Given the description of an element on the screen output the (x, y) to click on. 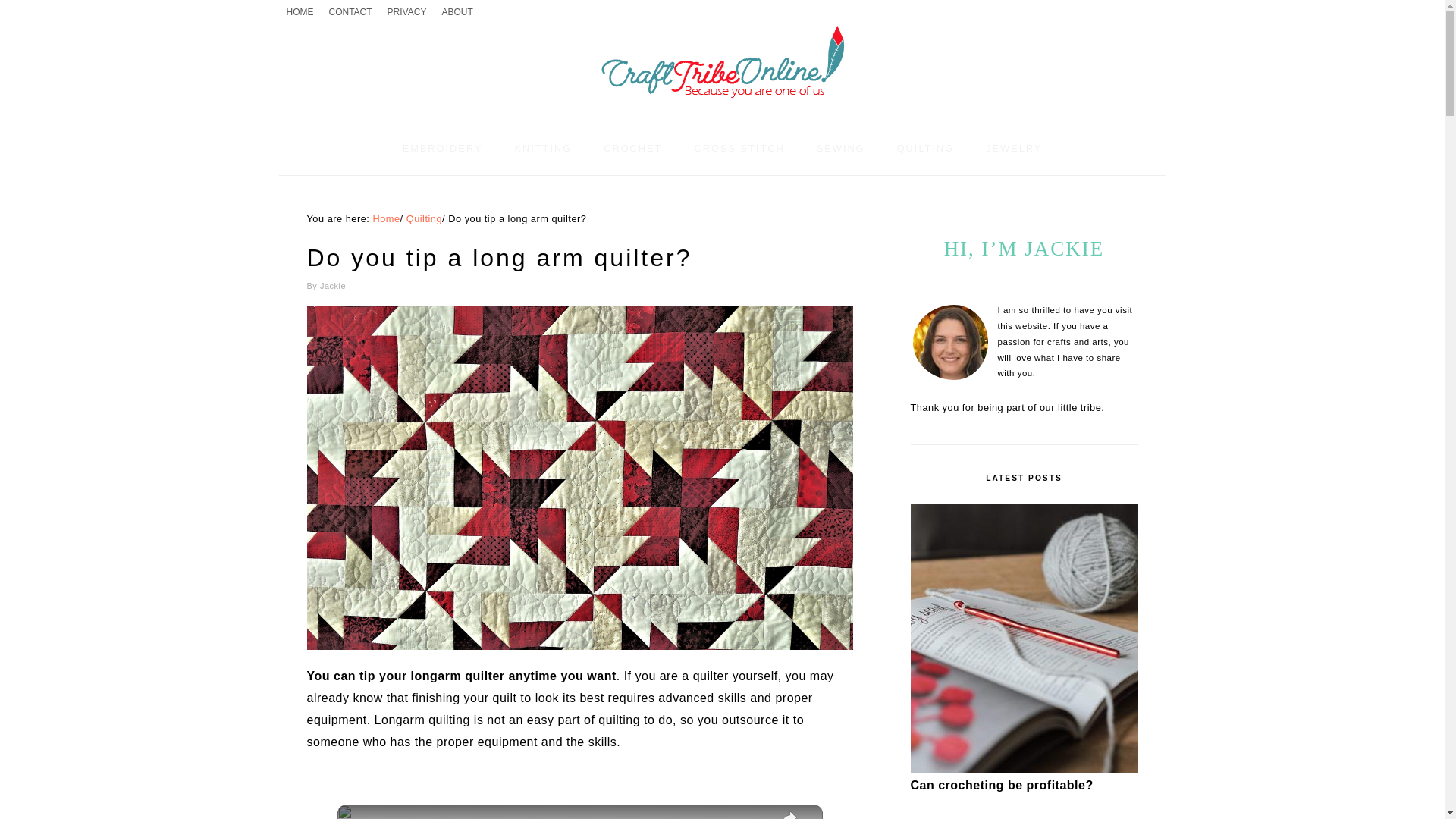
KNITTING (542, 147)
CONTACT (350, 12)
PRIVACY (406, 12)
QUILTING (925, 147)
Home (385, 218)
Can crocheting be profitable? (1023, 768)
Posts by Jackie (333, 285)
CraftTribeOnline.com (721, 102)
CraftTribeOnline.com (721, 61)
Jackie (333, 285)
Share (788, 811)
HOME (300, 12)
CROSS STITCH (738, 147)
